Given the description of an element on the screen output the (x, y) to click on. 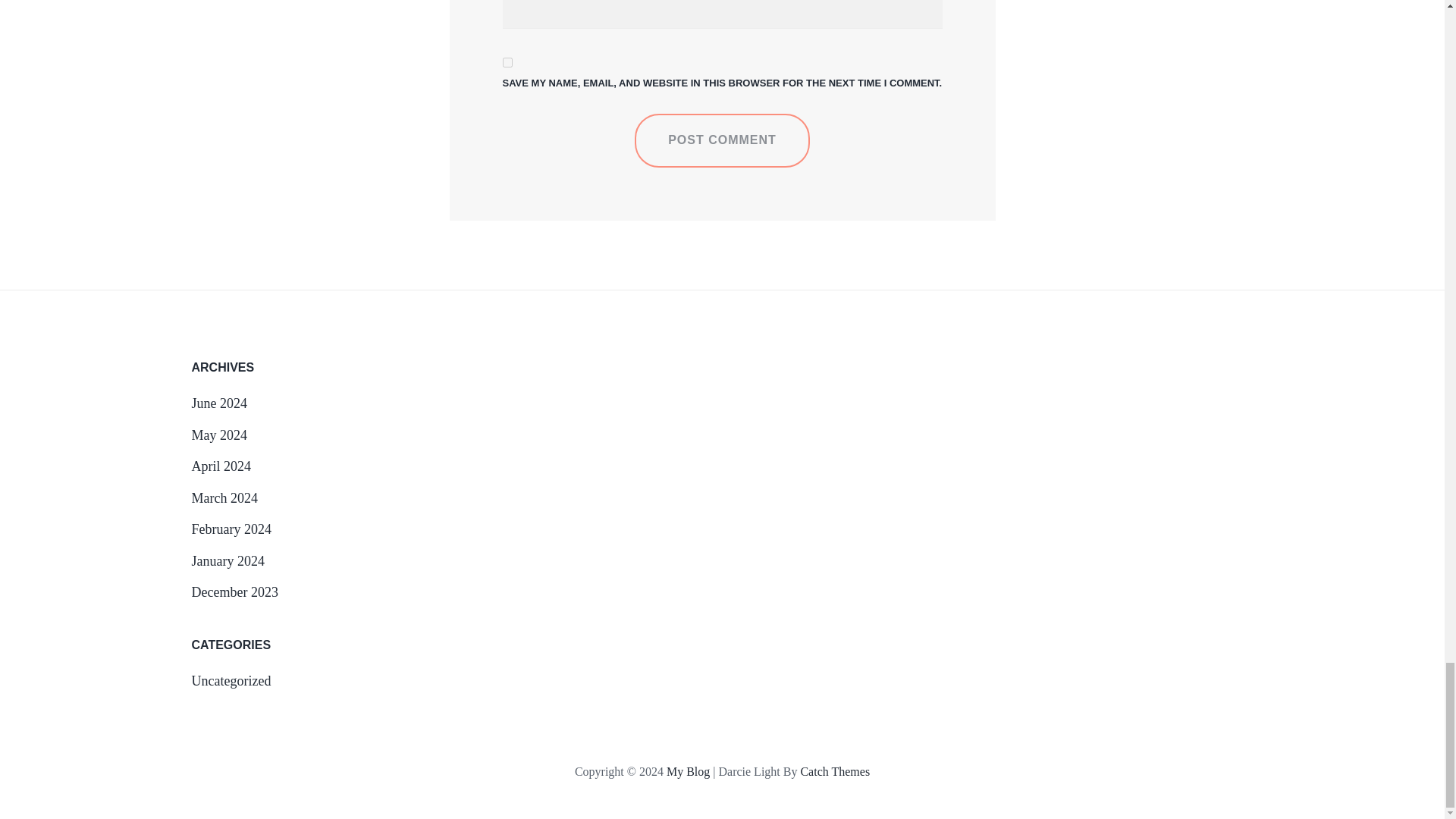
Post Comment (721, 140)
February 2024 (230, 529)
April 2024 (220, 466)
March 2024 (223, 498)
Catch Themes (834, 771)
Uncategorized (230, 680)
December 2023 (234, 591)
My Blog (688, 771)
yes (507, 62)
June 2024 (218, 403)
January 2024 (226, 560)
May 2024 (218, 435)
Post Comment (721, 140)
